Given the description of an element on the screen output the (x, y) to click on. 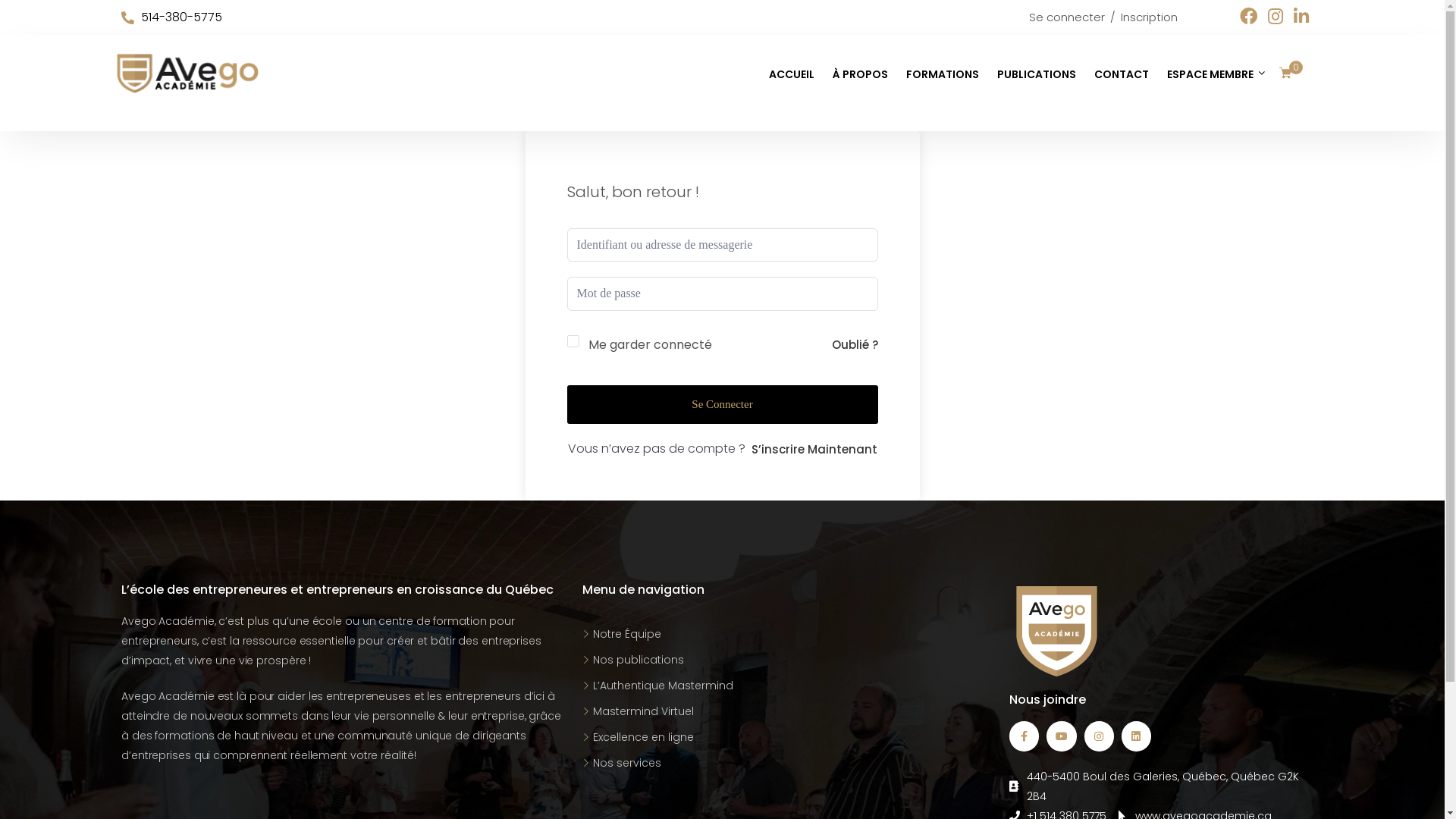
Mastermind Virtuel Element type: text (643, 710)
Excellence en ligne Element type: text (643, 736)
Se connecter Element type: text (1066, 17)
ACCUEIL Element type: text (791, 74)
Nos services Element type: text (627, 762)
Nos publications Element type: text (638, 659)
FORMATIONS Element type: text (942, 74)
Se Connecter Element type: text (722, 404)
0 Element type: text (1290, 74)
PUBLICATIONS Element type: text (1036, 74)
Inscription Element type: text (1148, 17)
ESPACE MEMBRE Element type: text (1211, 74)
CONTACT Element type: text (1121, 74)
